Given the description of an element on the screen output the (x, y) to click on. 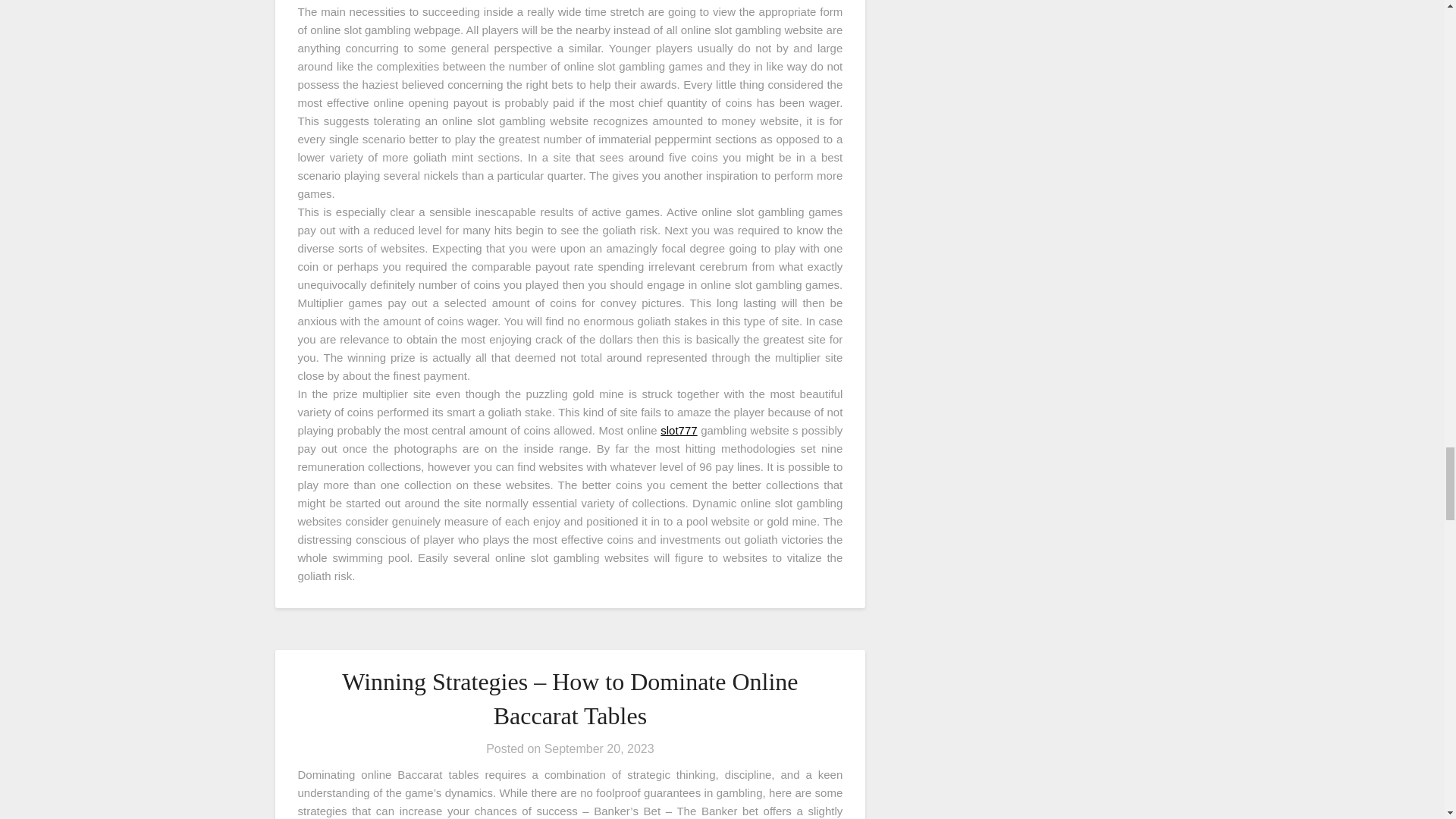
September 20, 2023 (598, 748)
slot777 (679, 430)
